Given the description of an element on the screen output the (x, y) to click on. 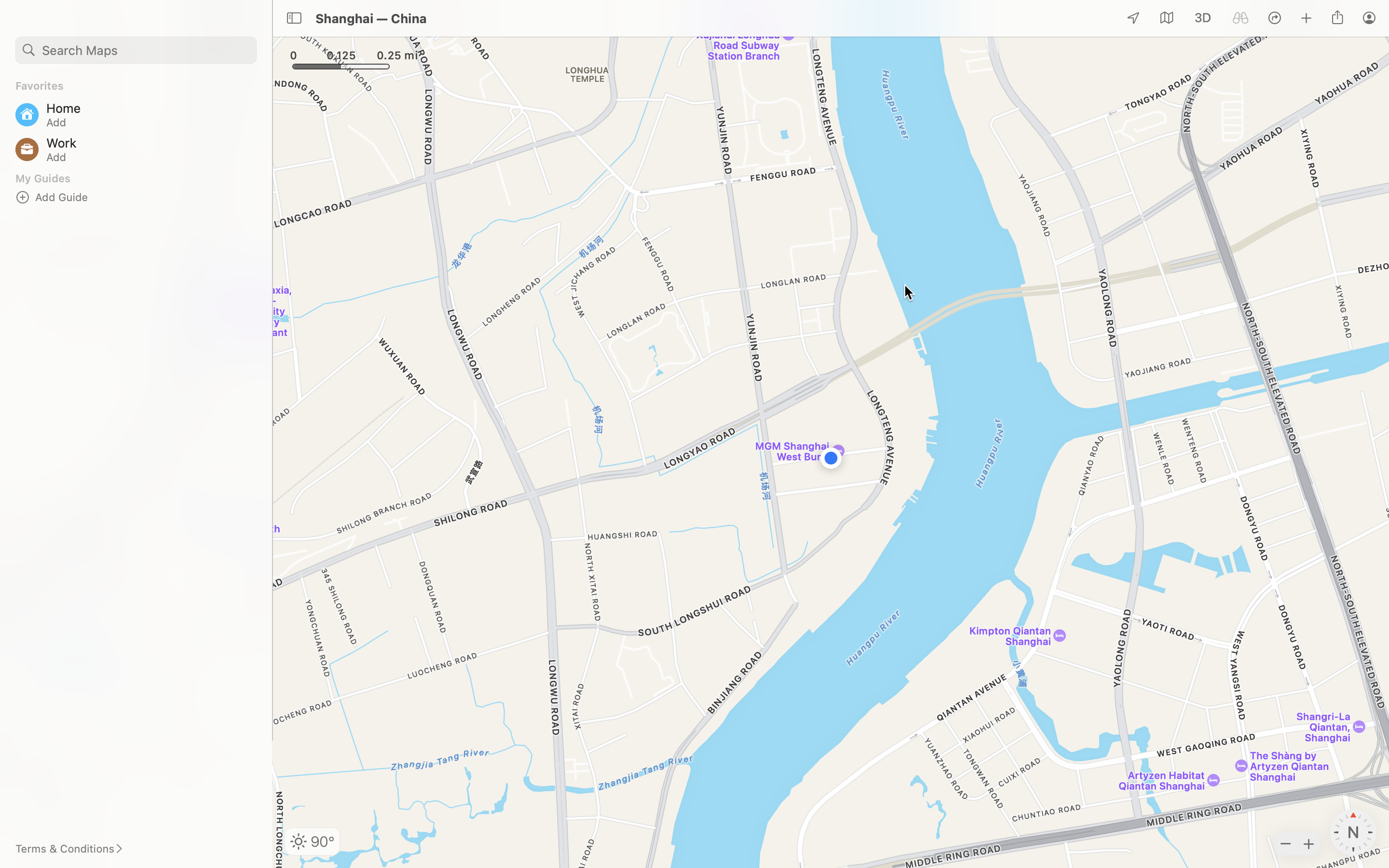
Heading: 0 degrees North Element type: AXButton (1353, 832)
0 Element type: AXCheckBox (1202, 18)
